Given the description of an element on the screen output the (x, y) to click on. 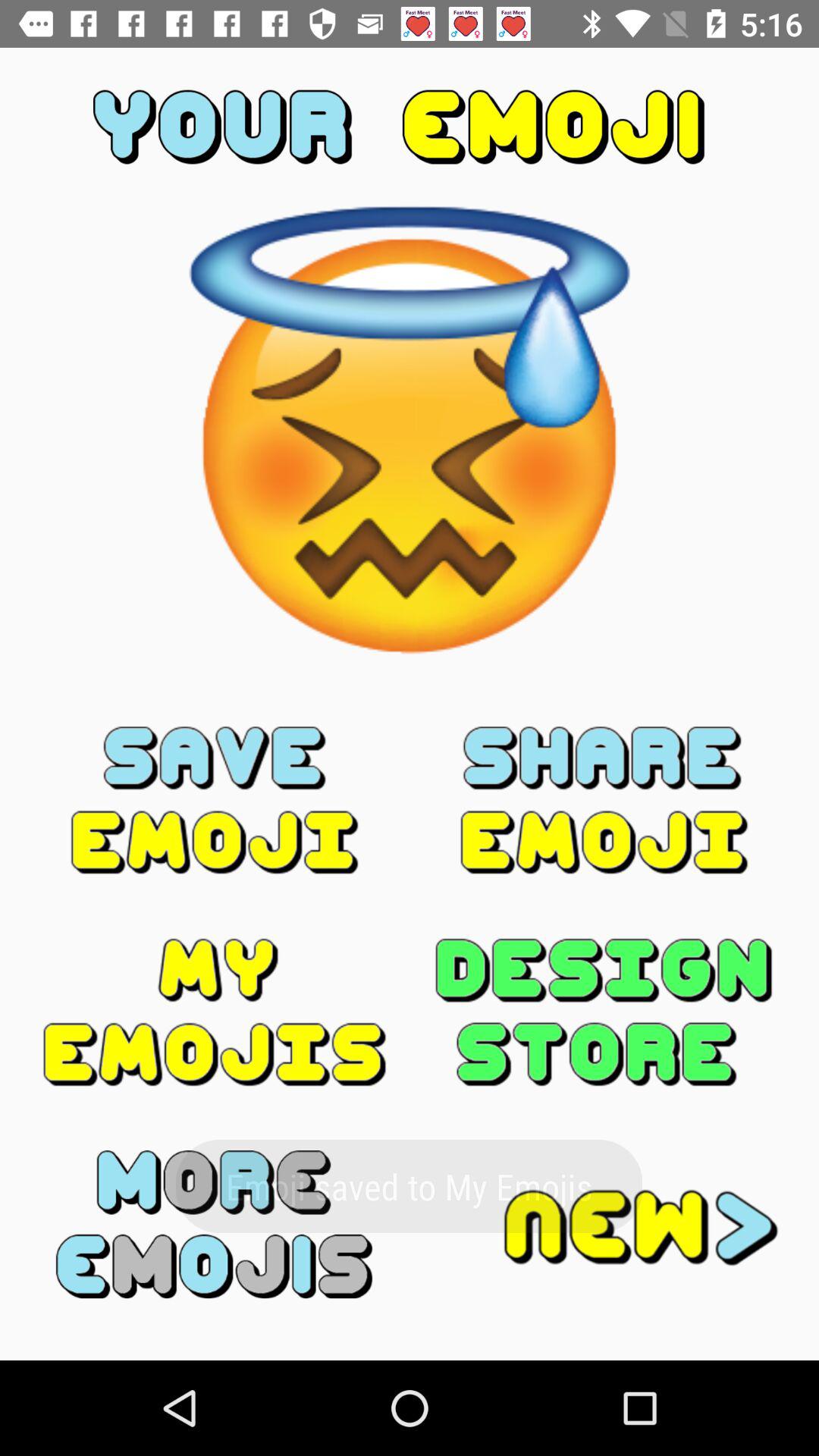
go to new option (604, 1224)
